Given the description of an element on the screen output the (x, y) to click on. 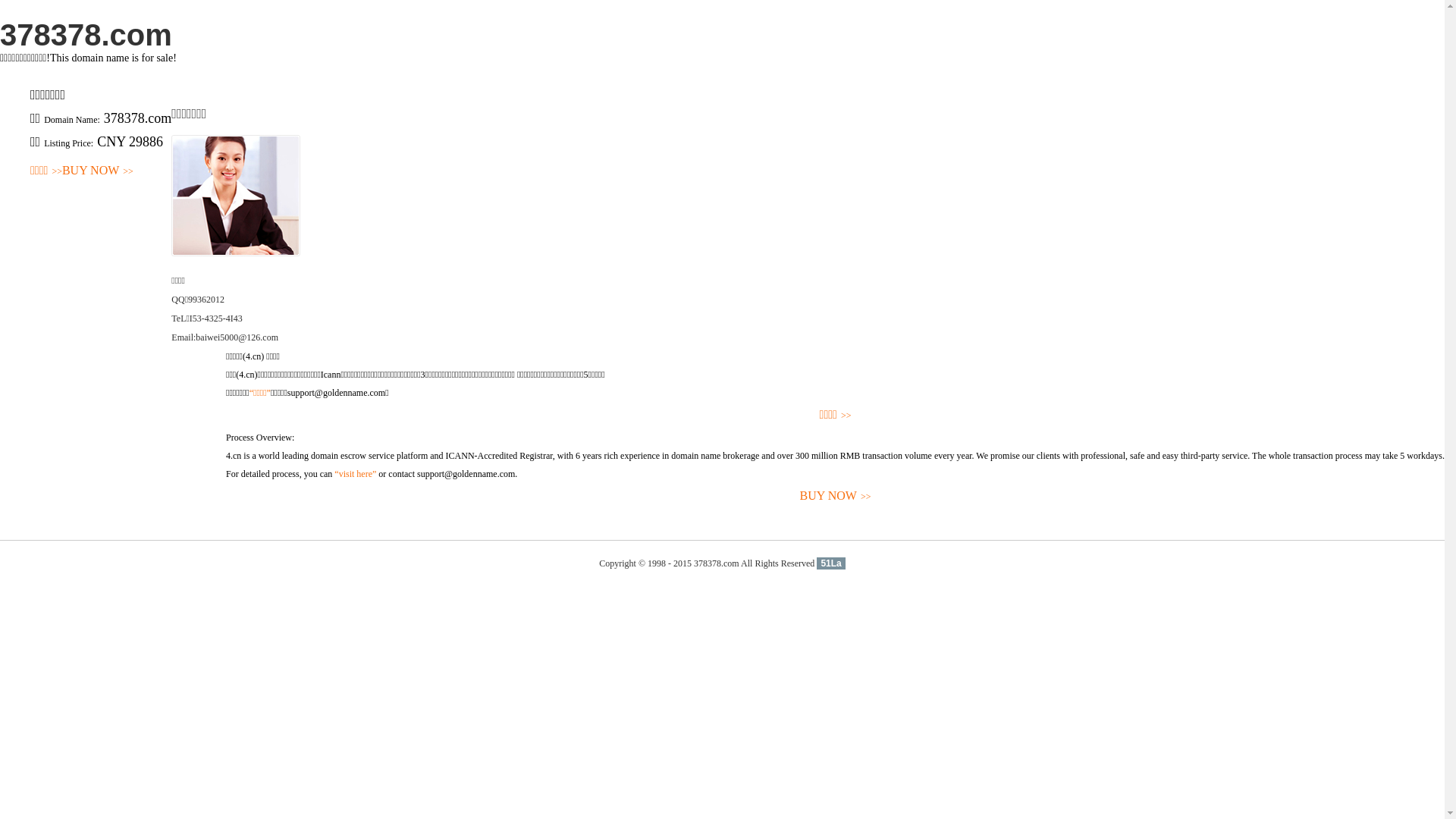
BUY NOW>> Element type: text (97, 170)
BUY NOW>> Element type: text (834, 496)
51La Element type: text (830, 563)
